Given the description of an element on the screen output the (x, y) to click on. 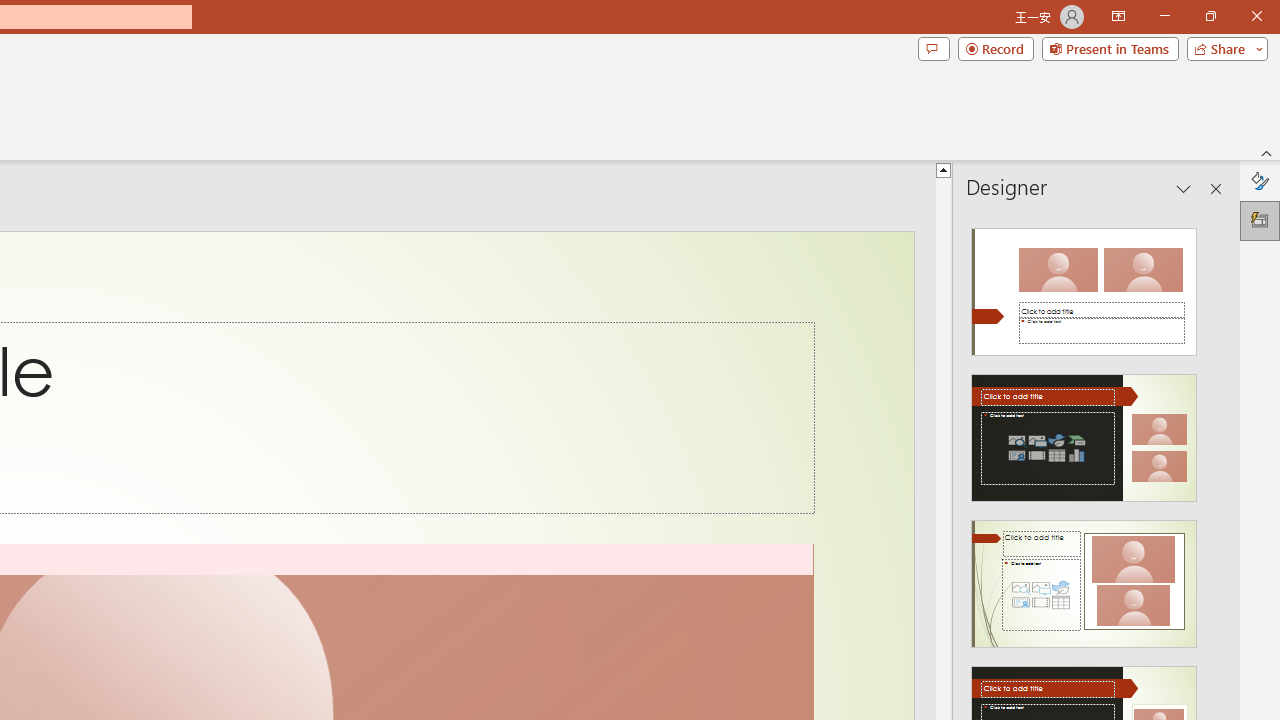
Format Background (1260, 180)
Design Idea (1083, 577)
Recommended Design: Design Idea (1083, 286)
